Given the description of an element on the screen output the (x, y) to click on. 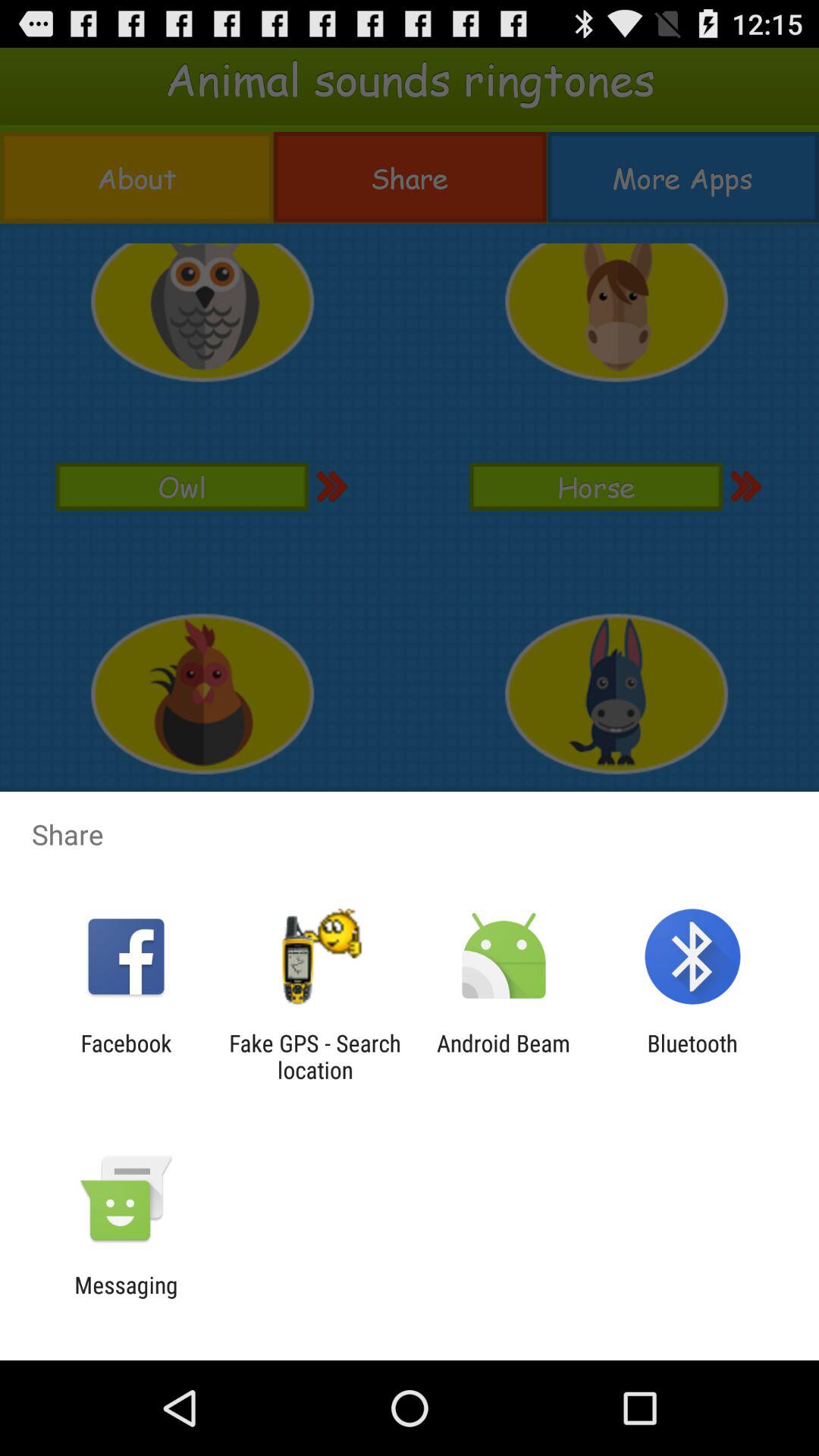
turn off the app next to facebook icon (314, 1056)
